Given the description of an element on the screen output the (x, y) to click on. 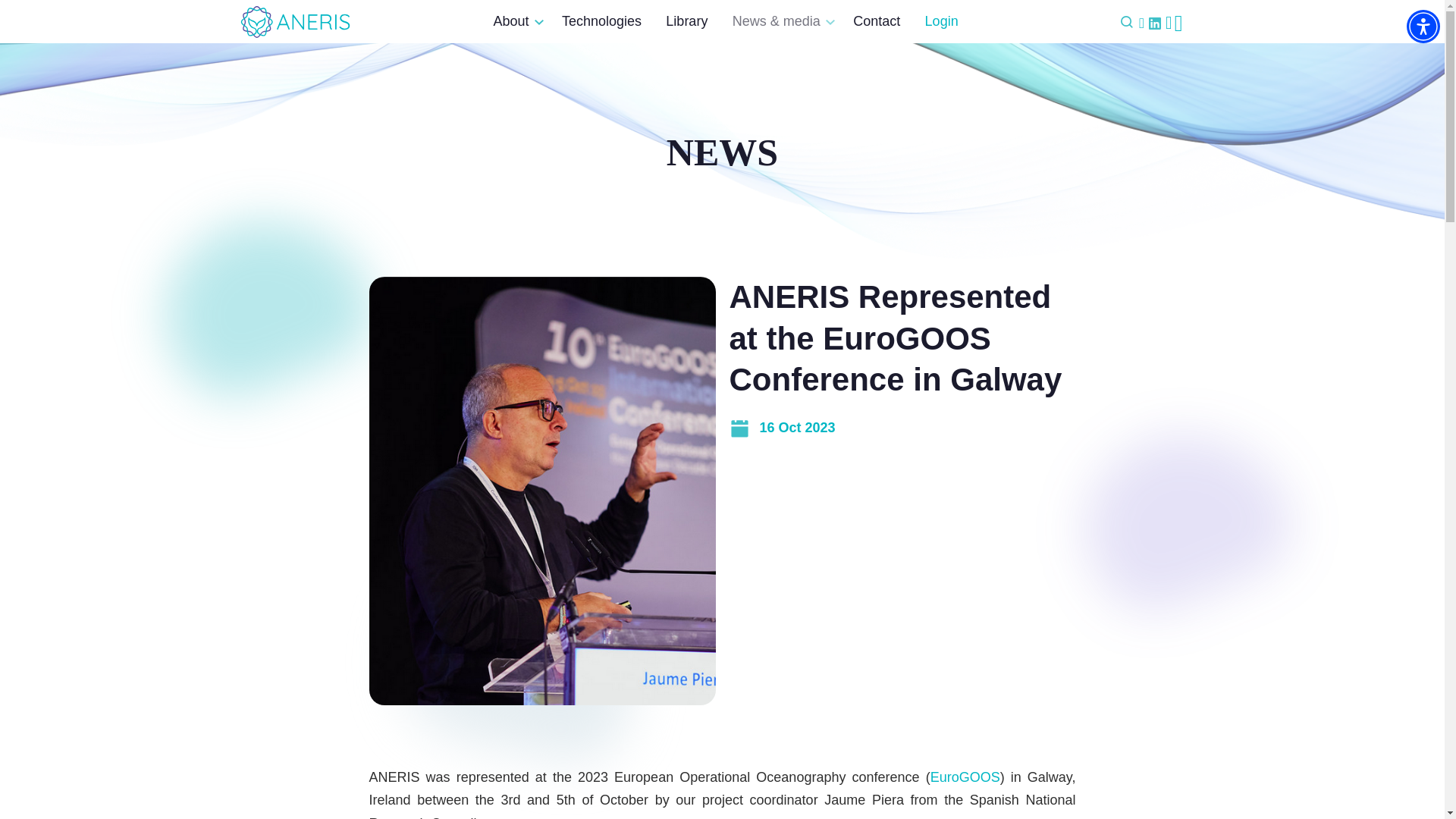
EuroGOOS (965, 776)
Contact (876, 20)
About (514, 20)
Library (686, 20)
Login (941, 20)
Accessibility Menu (1422, 26)
Technologies (600, 20)
